Given the description of an element on the screen output the (x, y) to click on. 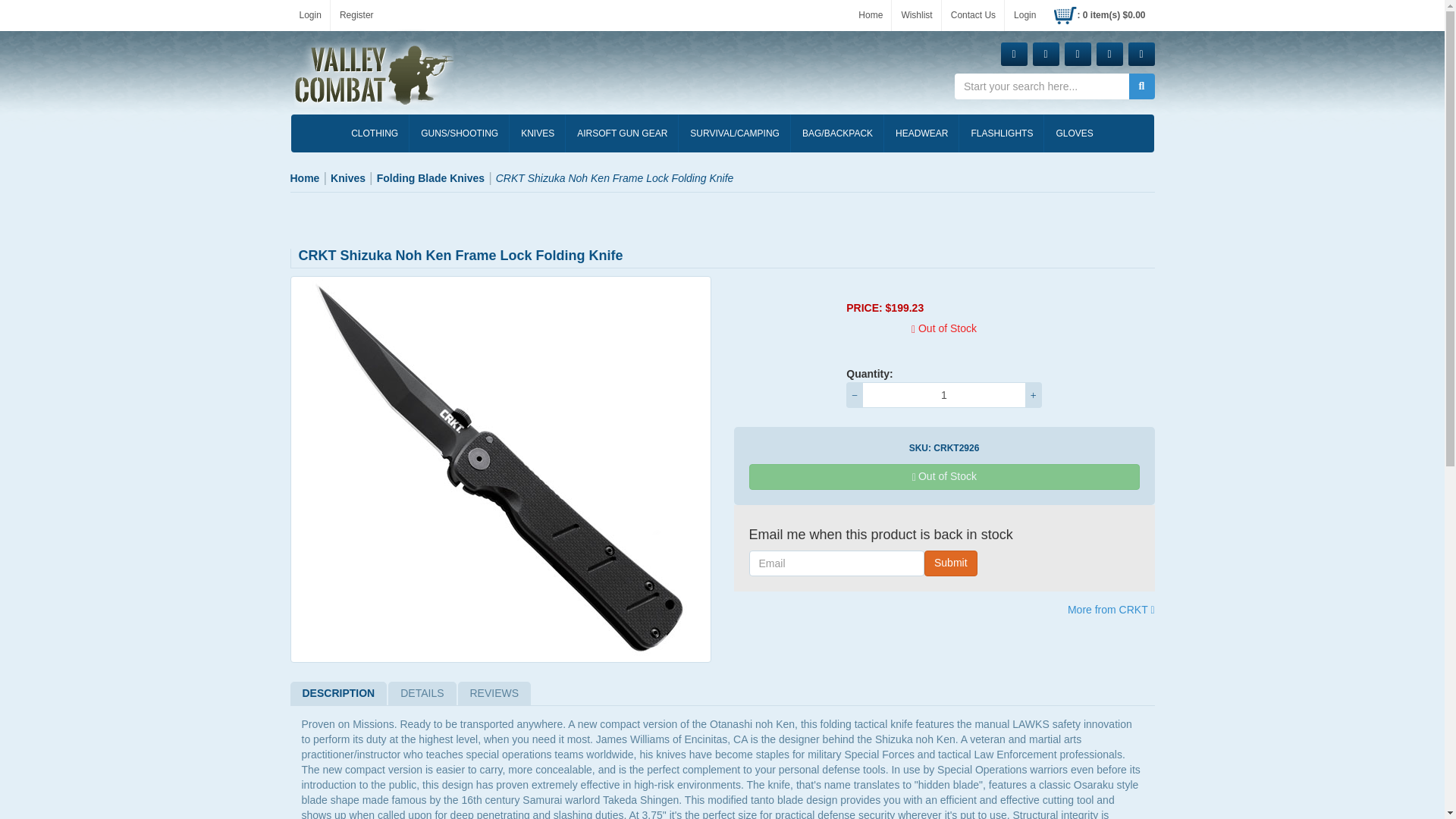
Login (309, 15)
Contact Us (973, 15)
Login (1024, 15)
Valley Combat (373, 75)
Wishlist (915, 15)
Home (869, 15)
Register (356, 15)
CLOTHING (374, 133)
1 (943, 394)
